Given the description of an element on the screen output the (x, y) to click on. 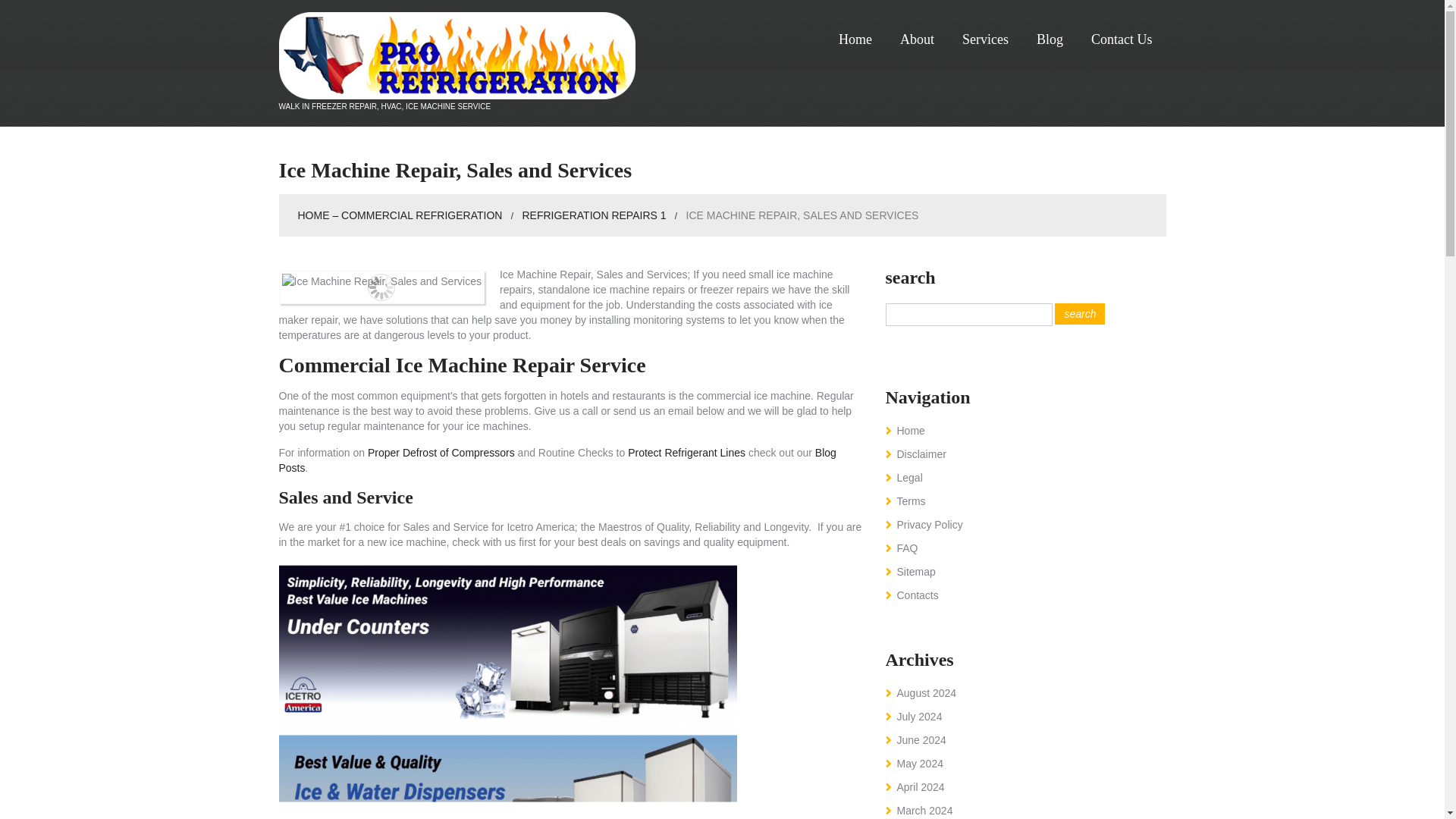
REFRIGERATION REPAIRS 1 (593, 215)
Blog (1050, 39)
Contact Us (1121, 39)
Home (855, 39)
Walk In Freezer Repair, HVAC, Ice Machine Service (456, 55)
Home (910, 430)
search (1079, 313)
search (1079, 313)
Proper Defrost of Compressors (441, 452)
Blog Posts (557, 460)
